Given the description of an element on the screen output the (x, y) to click on. 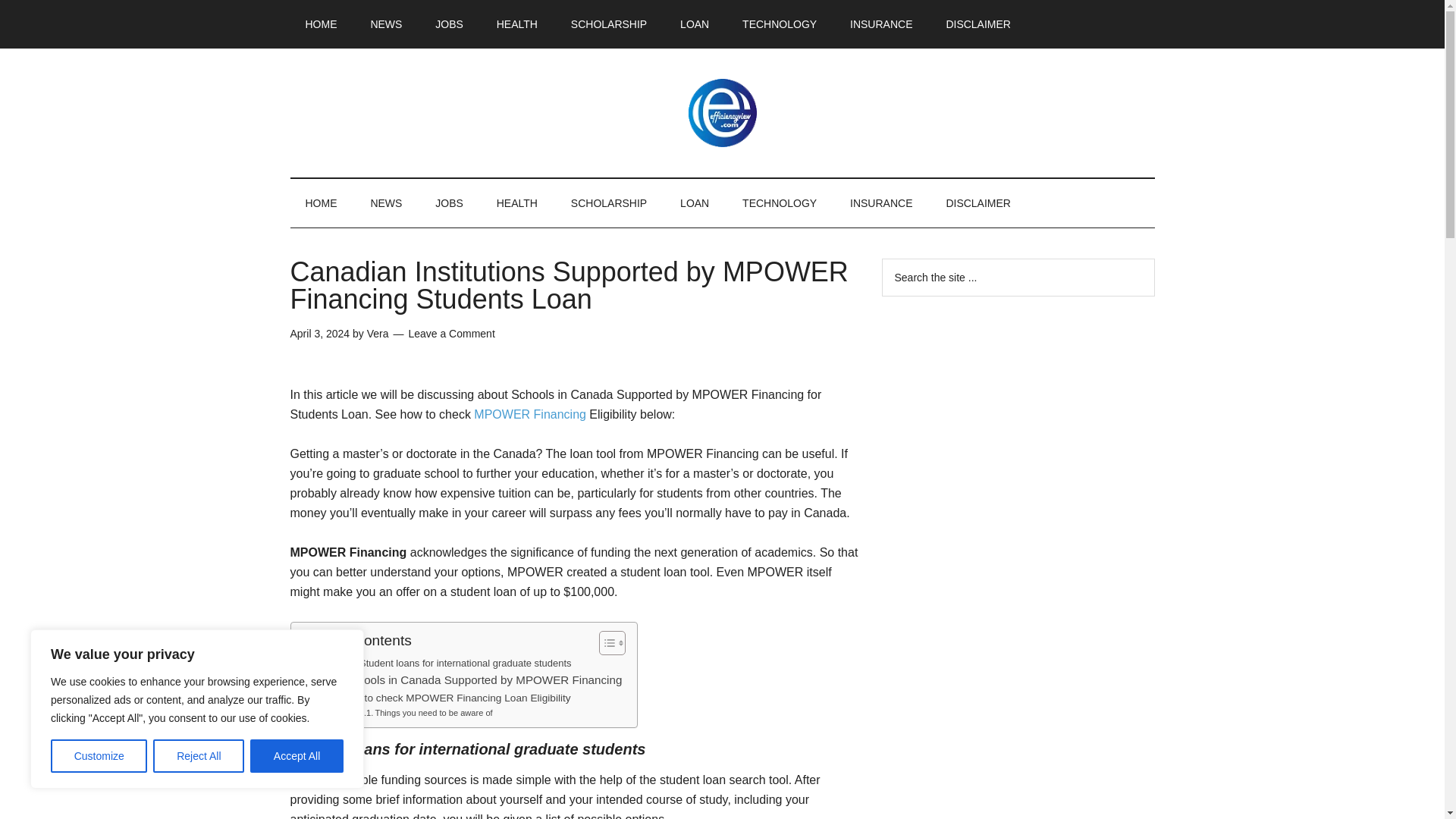
SCHOLARSHIP (609, 203)
Accept All (296, 756)
HOME (320, 203)
Student loans for international graduate students (451, 663)
LOAN (694, 203)
NEWS (385, 24)
INSURANCE (880, 203)
TECHNOLOGY (778, 24)
LOAN (694, 24)
JOBS (449, 203)
List of Schools in Canada Supported by MPOWER Financing (460, 679)
Efficiency View (721, 112)
SCHOLARSHIP (609, 24)
